Given the description of an element on the screen output the (x, y) to click on. 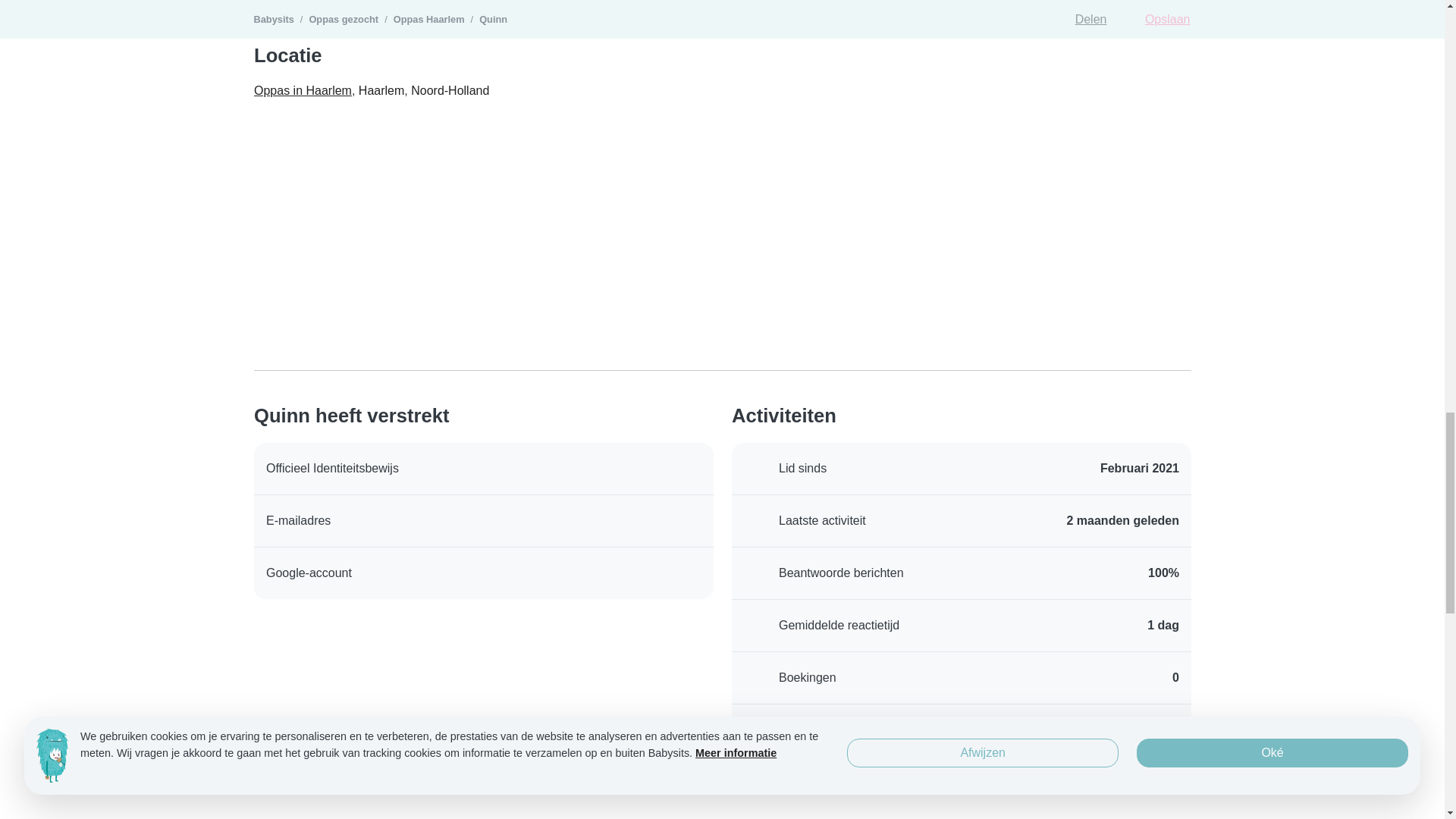
21-05-2024 (1122, 519)
